Given the description of an element on the screen output the (x, y) to click on. 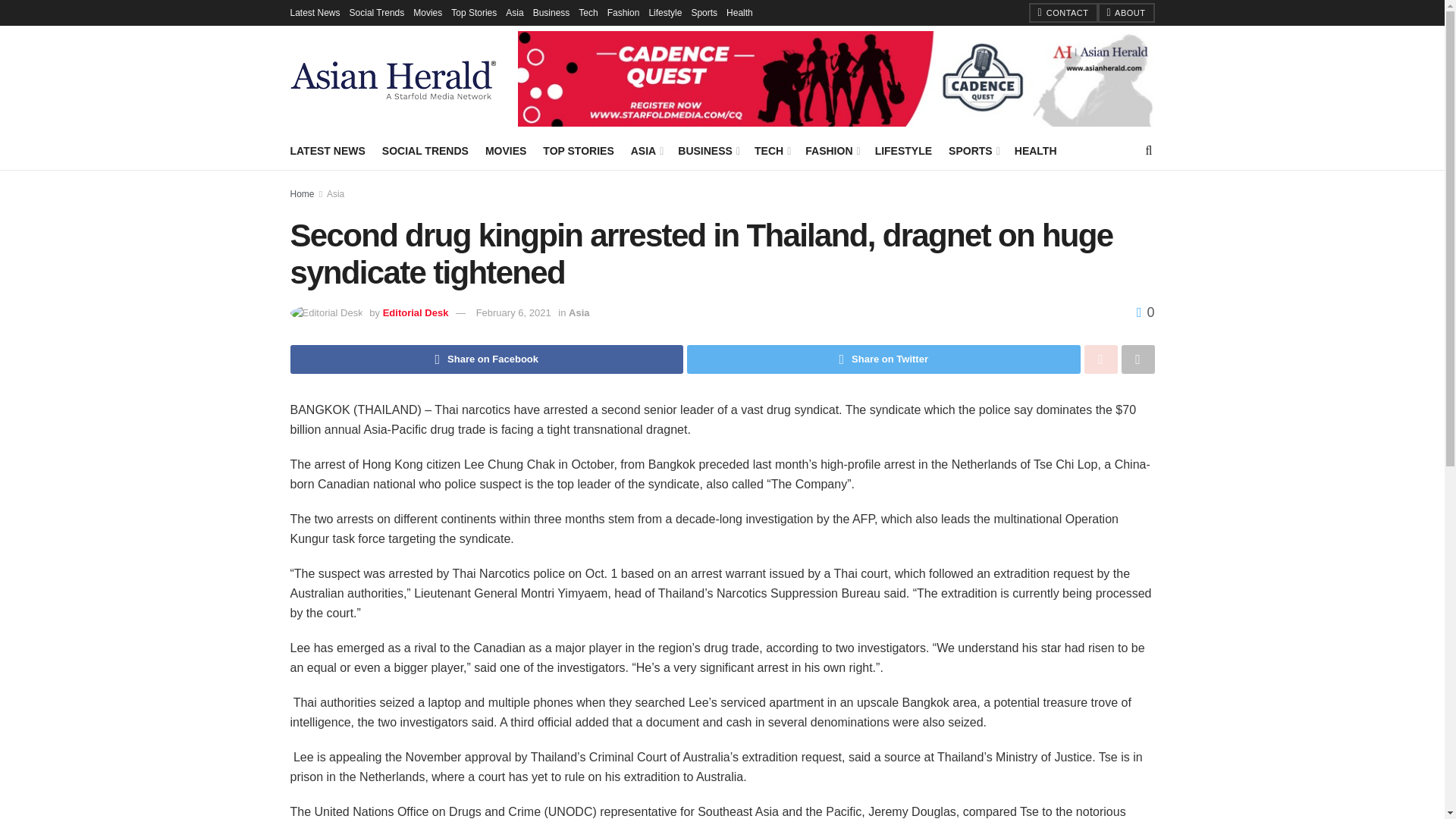
BUSINESS (708, 150)
Latest News (314, 12)
CONTACT (1062, 12)
Sports (703, 12)
ASIA (646, 150)
SOCIAL TRENDS (424, 150)
Health (739, 12)
TOP STORIES (577, 150)
Fashion (623, 12)
ABOUT (1125, 12)
